Given the description of an element on the screen output the (x, y) to click on. 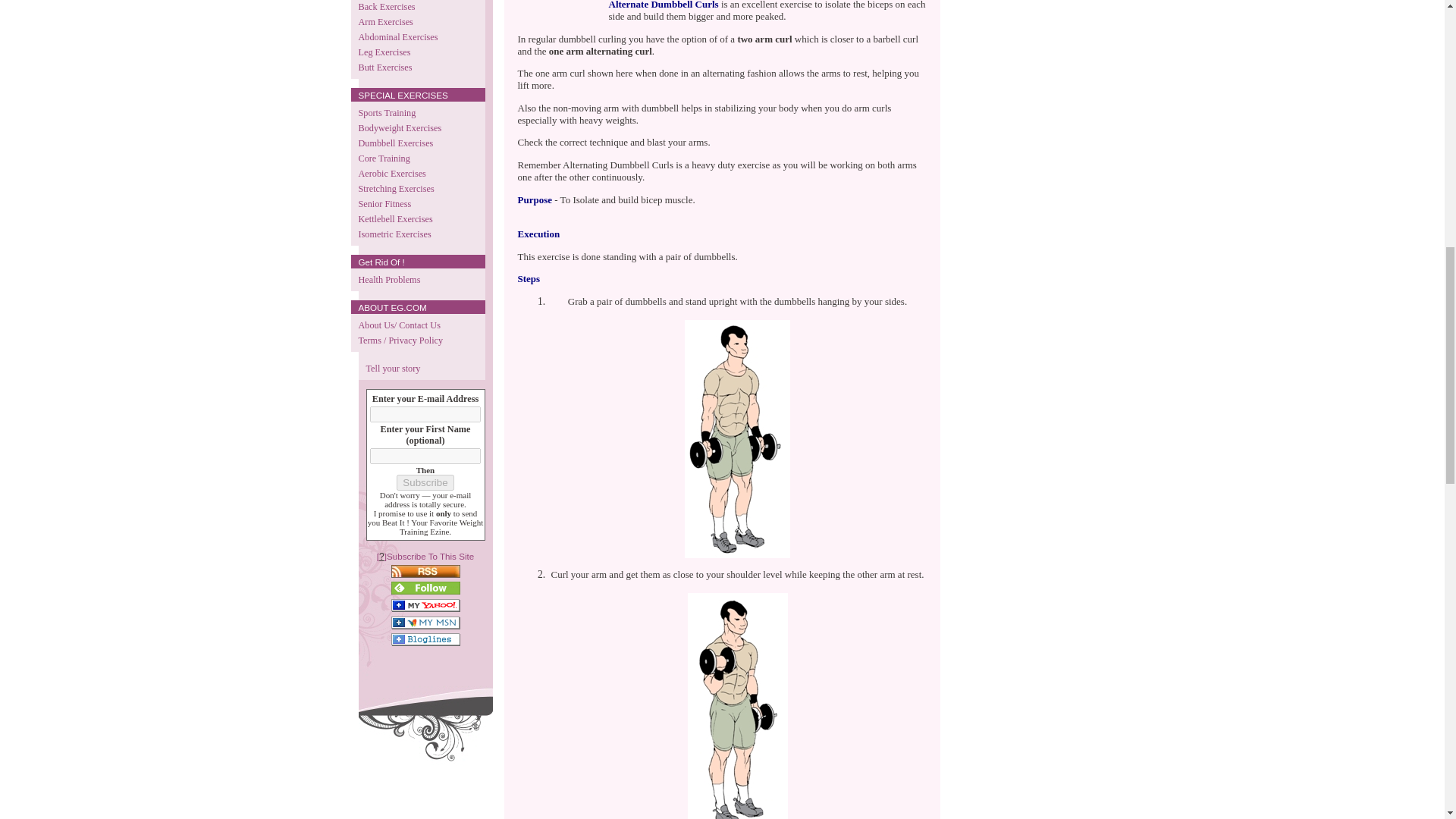
Arm Exercises (417, 21)
Subscribe (424, 482)
Abdominal Exercises (417, 37)
Core Training (417, 158)
Aerobic Exercises (417, 173)
Dumbbell Exercises (417, 142)
Bodyweight Exercises (417, 127)
Leg Exercises (417, 52)
Sports Training (417, 112)
Back Exercises (417, 7)
Butt Exercises (417, 67)
